Given the description of an element on the screen output the (x, y) to click on. 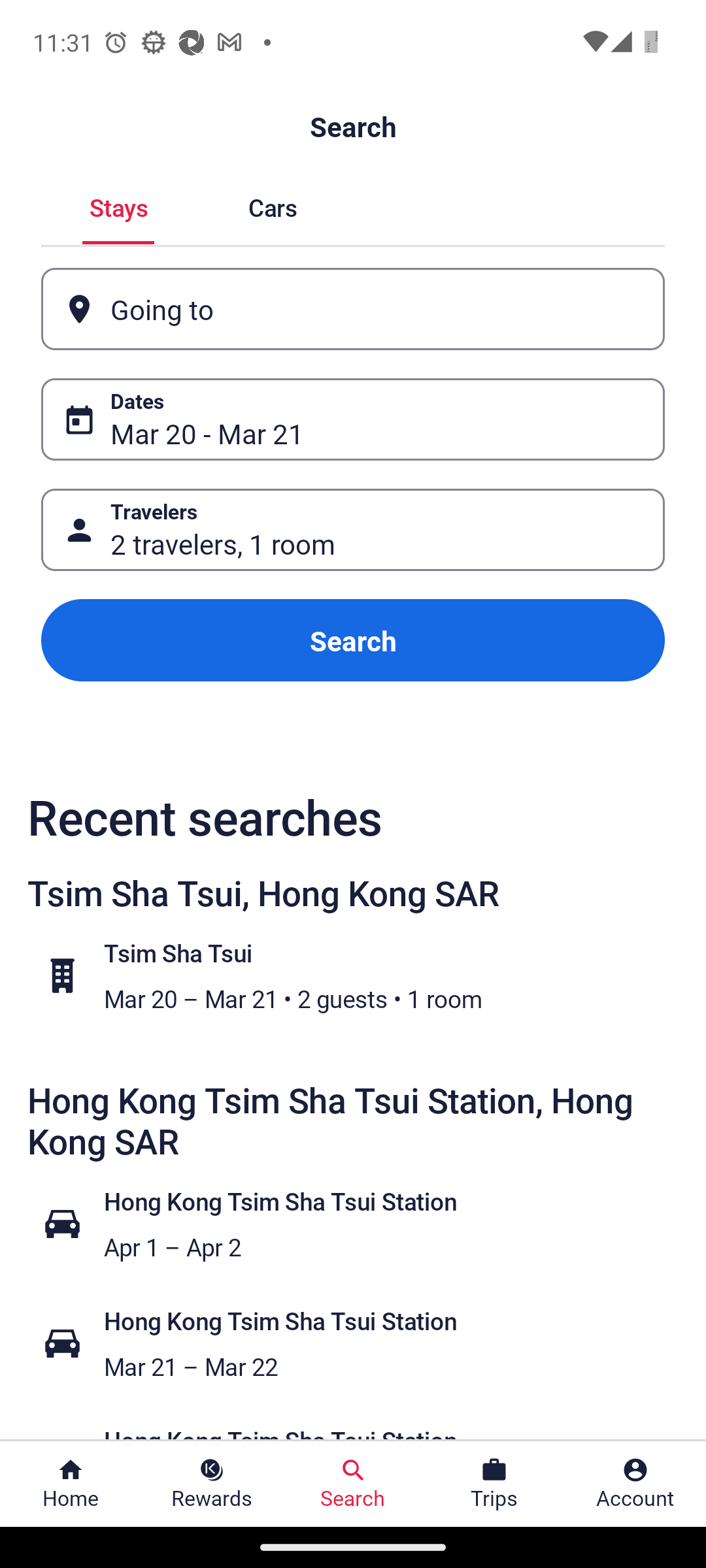
Cars (272, 205)
Going to Button (352, 308)
Dates Button Mar 20 - Mar 21 (352, 418)
Travelers Button 2 travelers, 1 room (352, 529)
Search (352, 640)
Tsim Sha Tsui Mar 20 – Mar 21 • 2 guests • 1 room (363, 974)
Hong Kong Tsim Sha Tsui Station Apr 1 – Apr 2 (363, 1223)
Hong Kong Tsim Sha Tsui Station Mar 21 – Mar 22 (363, 1343)
Home Home Button (70, 1483)
Rewards Rewards Button (211, 1483)
Trips Trips Button (493, 1483)
Account Profile. Button (635, 1483)
